Given the description of an element on the screen output the (x, y) to click on. 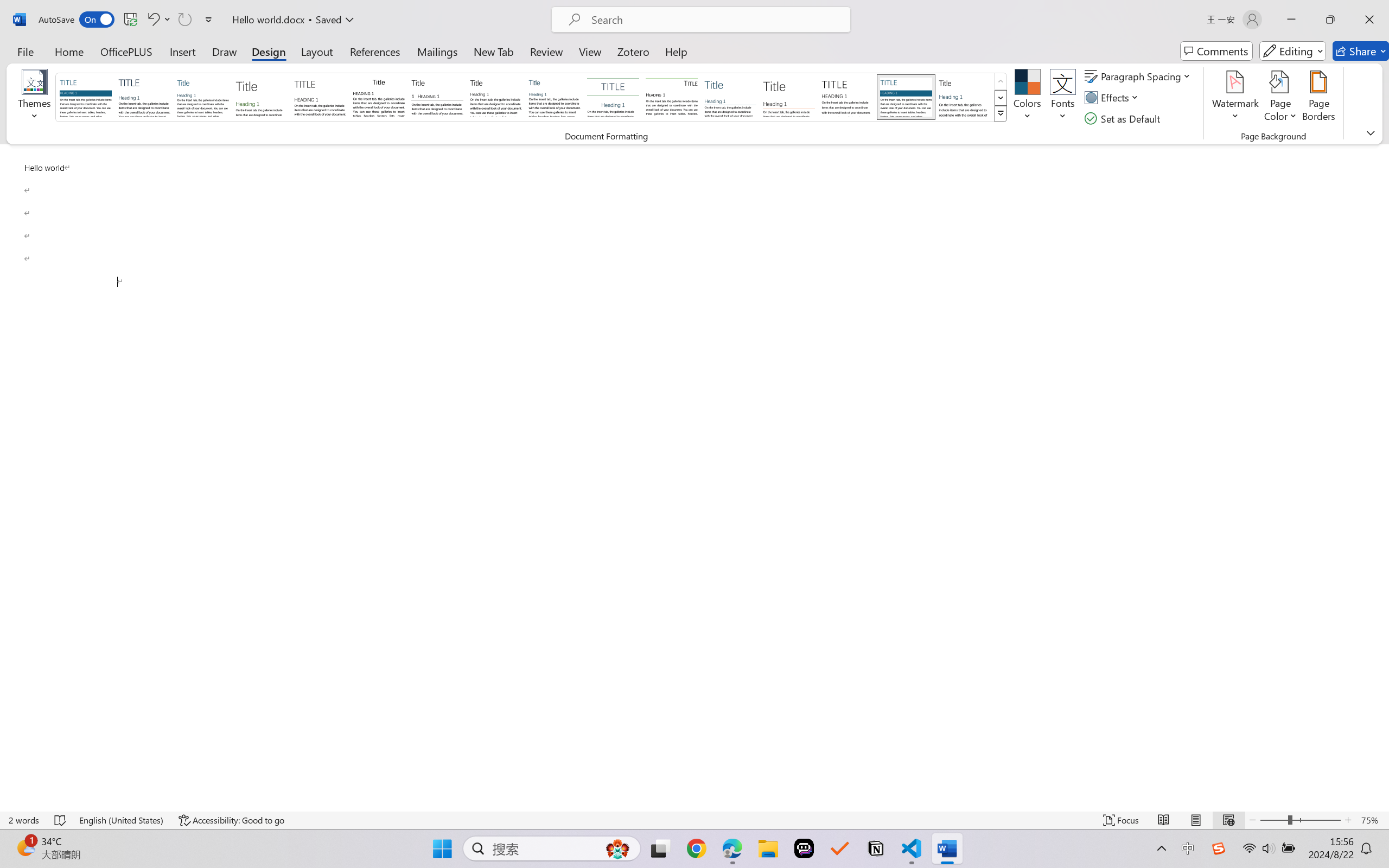
Zoom 73% (1364, 837)
Start a conversation (1282, 179)
